Given the description of an element on the screen output the (x, y) to click on. 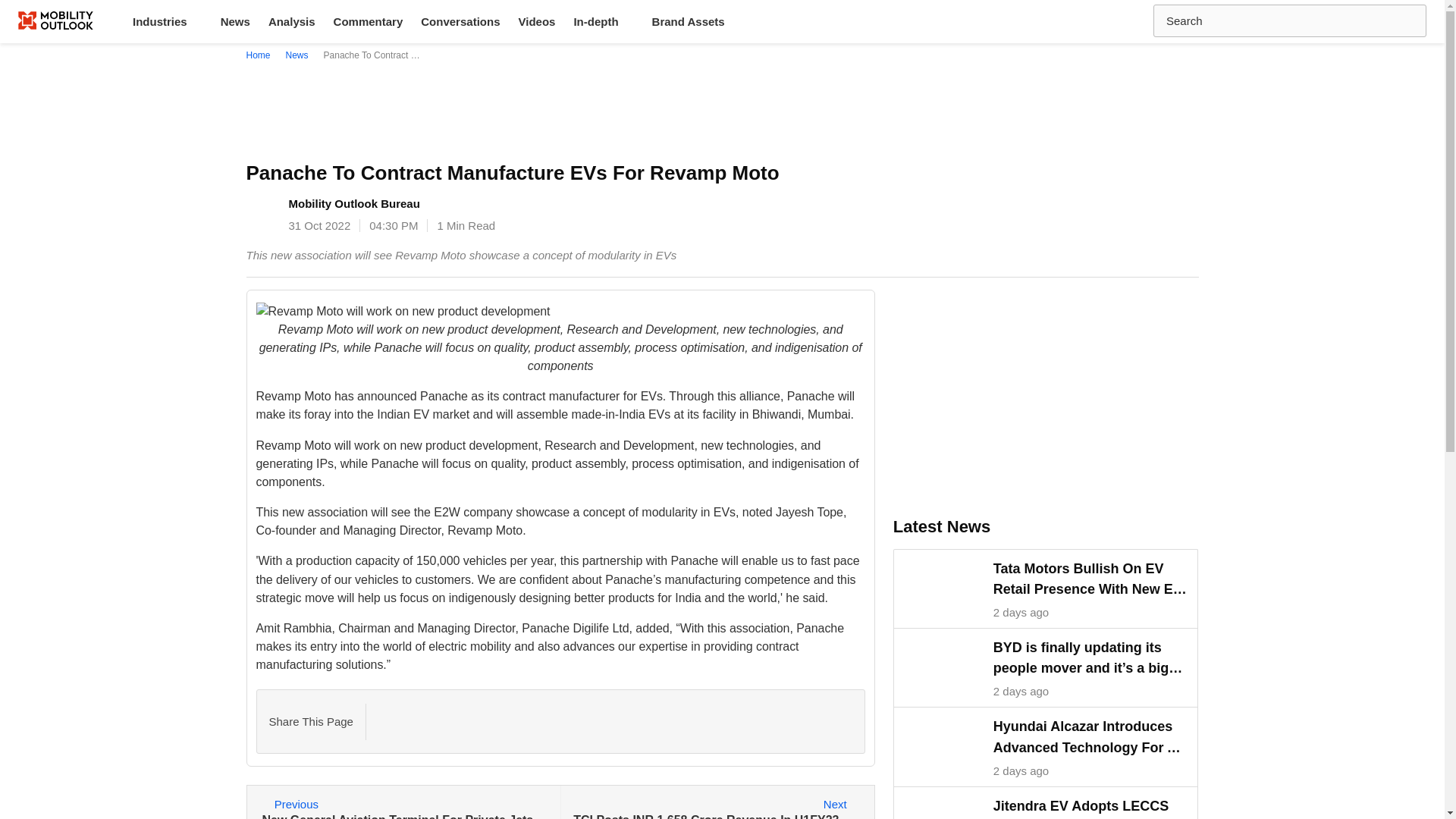
Home (261, 54)
News (235, 20)
Commentary (368, 20)
news (296, 54)
News (296, 54)
Home (261, 54)
Videos (715, 802)
